Given the description of an element on the screen output the (x, y) to click on. 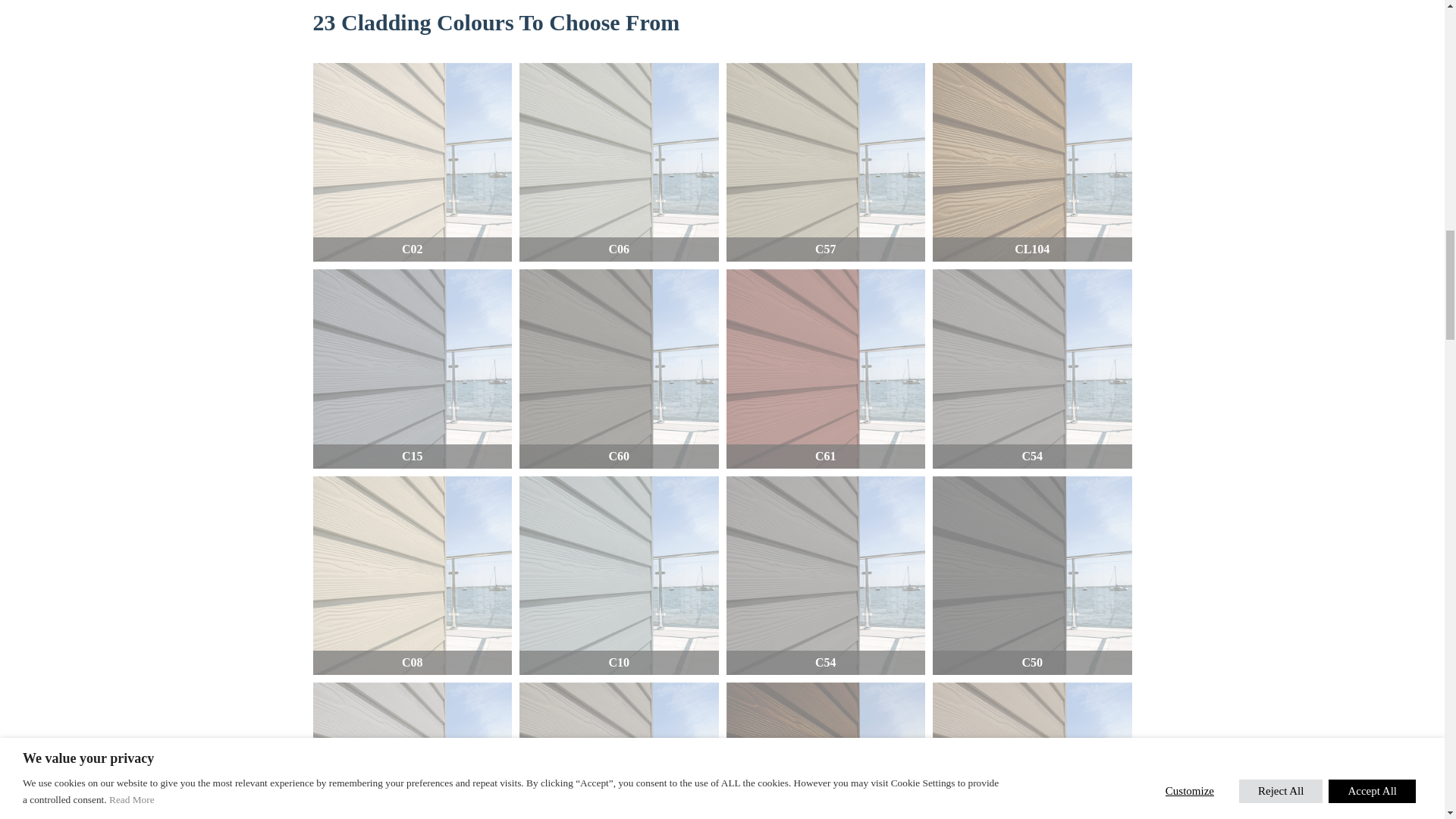
C61 (826, 368)
C50 (1032, 575)
C02 (412, 162)
C57 (826, 162)
C15 (412, 368)
C08 (412, 575)
C06 (619, 162)
CL104 (826, 750)
C14 (1032, 750)
C54 (1032, 368)
